Given the description of an element on the screen output the (x, y) to click on. 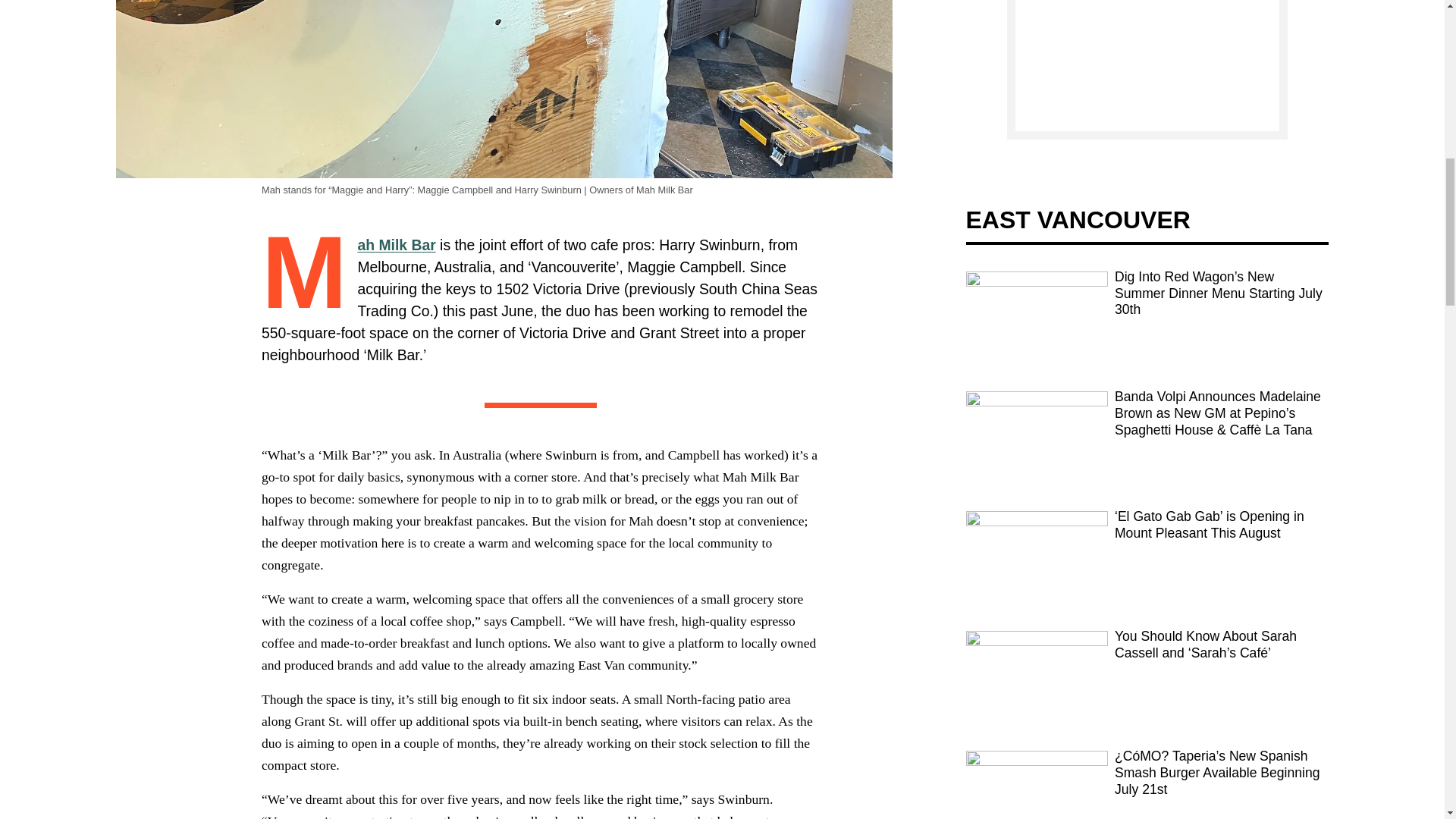
Mah Milk Bar (395, 244)
